Given the description of an element on the screen output the (x, y) to click on. 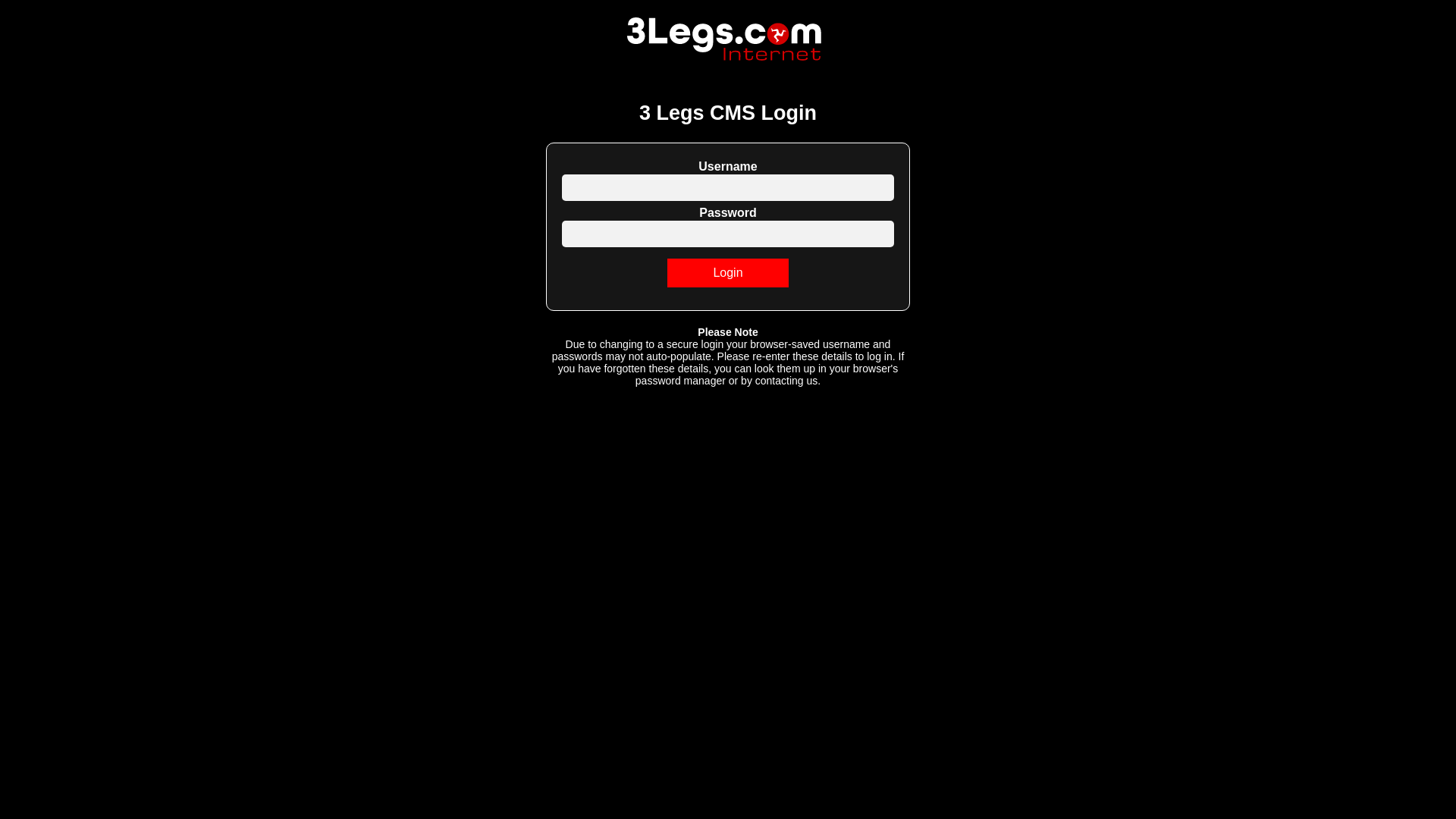
Login Element type: text (727, 272)
